Given the description of an element on the screen output the (x, y) to click on. 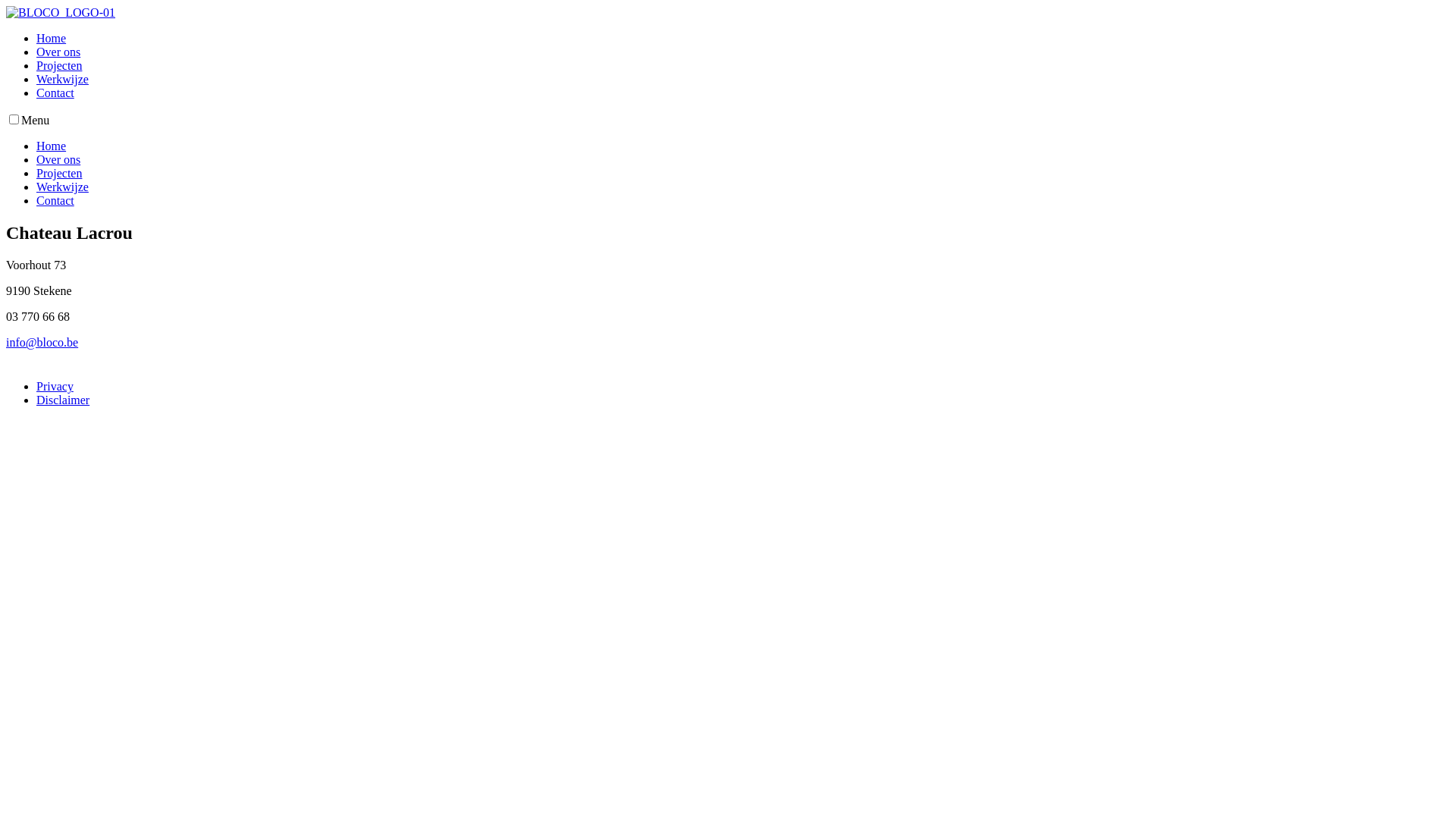
Over ons Element type: text (58, 51)
info@bloco.be Element type: text (42, 341)
Privacy Element type: text (54, 385)
Home Element type: text (50, 37)
Werkwijze Element type: text (62, 186)
Contact Element type: text (55, 200)
Over ons Element type: text (58, 159)
Disclaimer Element type: text (62, 399)
Home Element type: text (50, 145)
Contact Element type: text (55, 92)
Projecten Element type: text (58, 172)
Projecten Element type: text (58, 65)
Werkwijze Element type: text (62, 78)
